Given the description of an element on the screen output the (x, y) to click on. 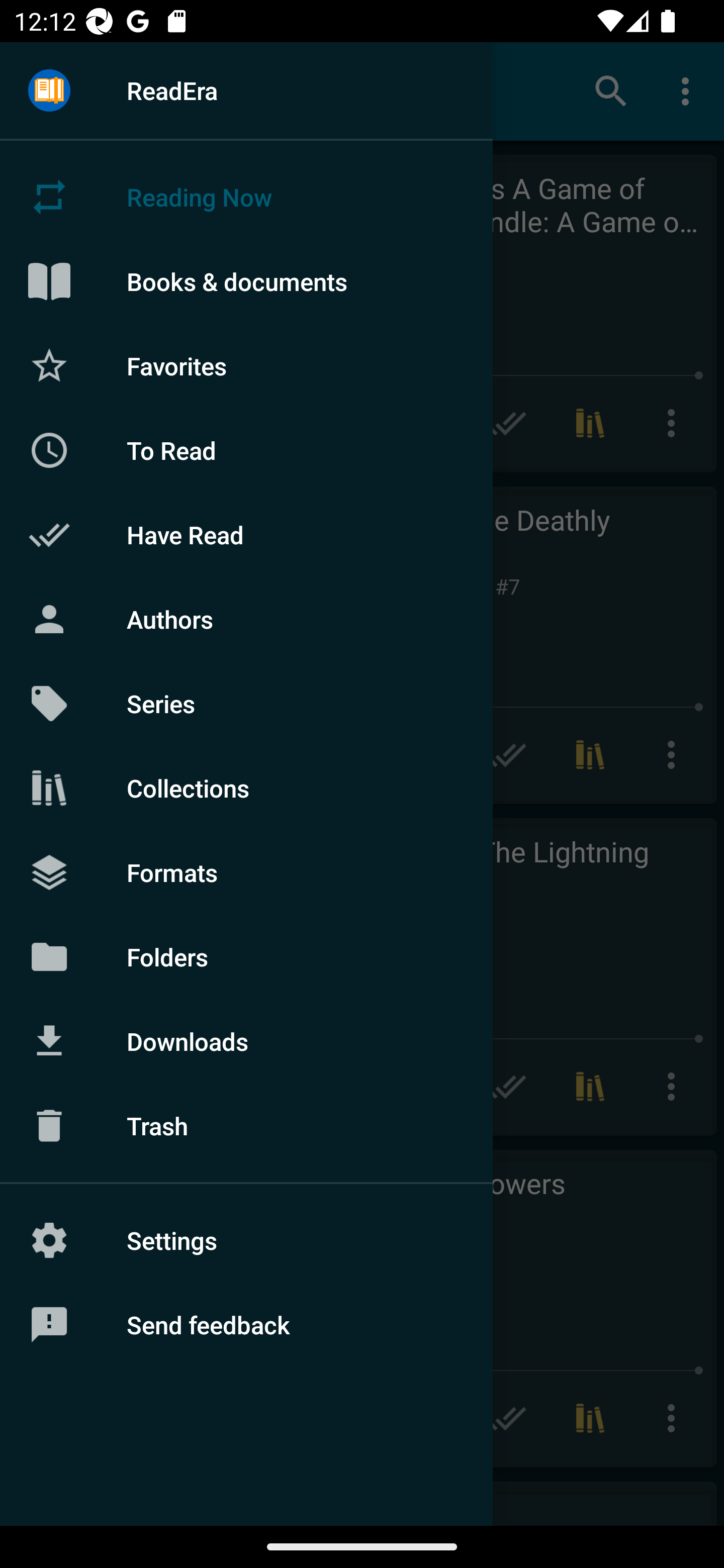
Menu (49, 91)
ReadEra (246, 89)
Search books & documents (611, 90)
More options (688, 90)
Reading Now (246, 197)
Books & documents (246, 281)
Favorites (246, 365)
To Read (246, 449)
Have Read (246, 534)
Authors (246, 619)
Series (246, 703)
Collections (246, 787)
Formats (246, 871)
Folders (246, 956)
Downloads (246, 1040)
Trash (246, 1125)
Settings (246, 1239)
Send feedback (246, 1324)
